Given the description of an element on the screen output the (x, y) to click on. 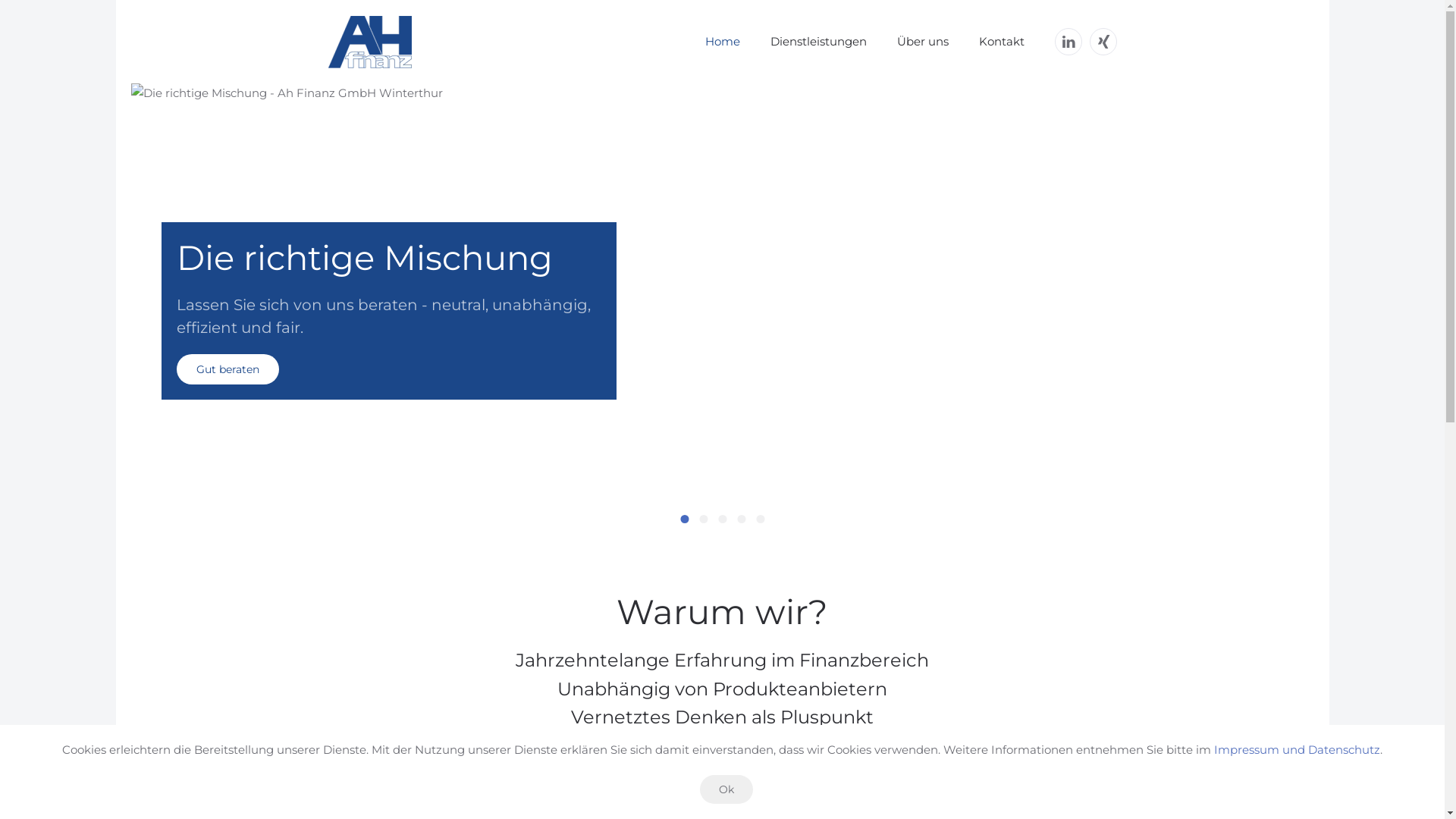
Weiter denken Element type: text (722, 518)
Die richtige Mischung Element type: text (684, 518)
Kontakt Element type: text (1000, 41)
Dienstleistungen Element type: text (818, 41)
Impressum und Datenschutz Element type: text (1297, 749)
Gut beraten Element type: text (226, 369)
Ok Element type: text (725, 789)
Kontakt Element type: text (722, 788)
Kontakt Element type: text (760, 518)
Home Element type: text (722, 41)
